Given the description of an element on the screen output the (x, y) to click on. 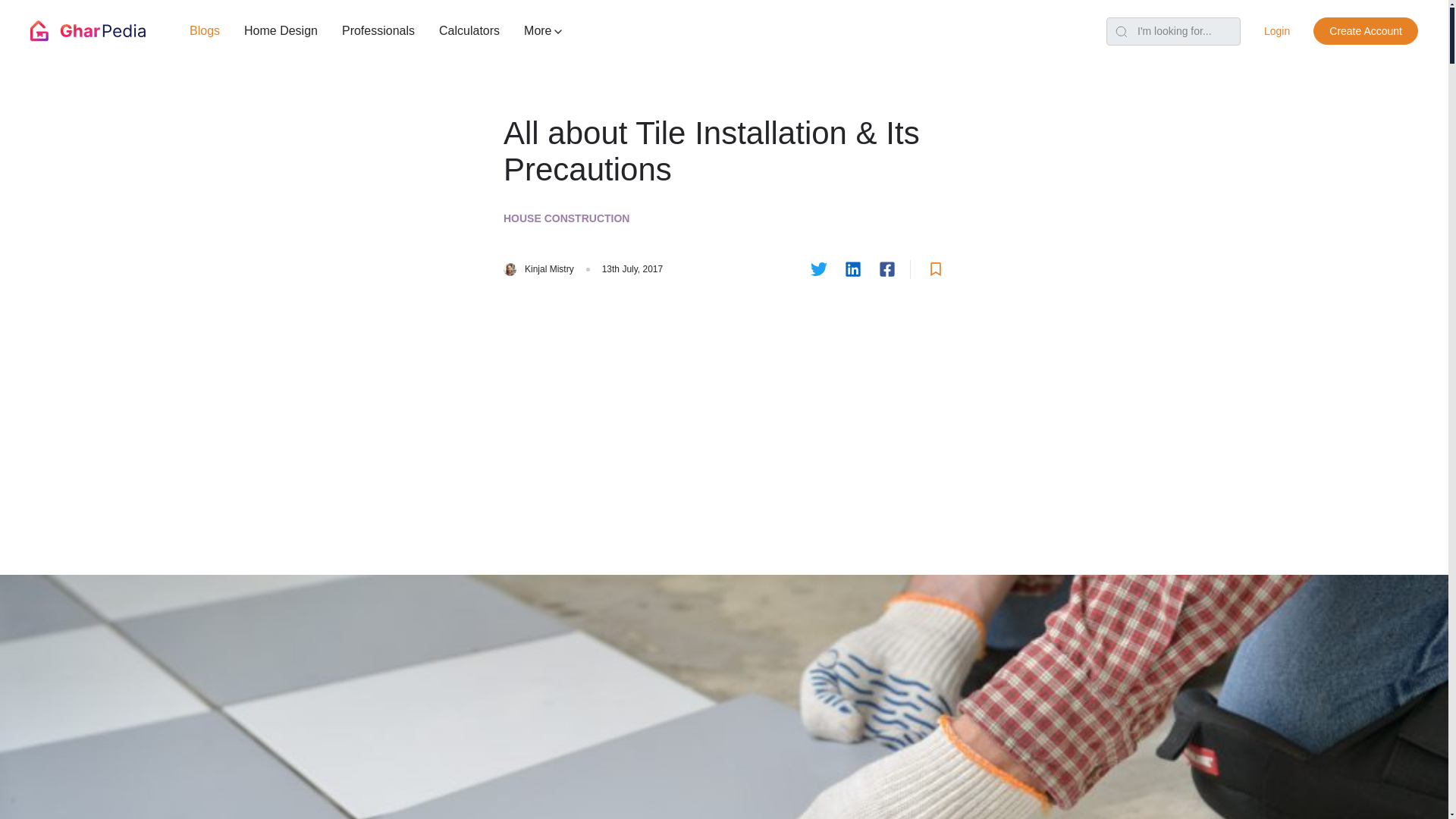
Facebook (887, 269)
Home Design (280, 30)
Blogs (204, 30)
